Given the description of an element on the screen output the (x, y) to click on. 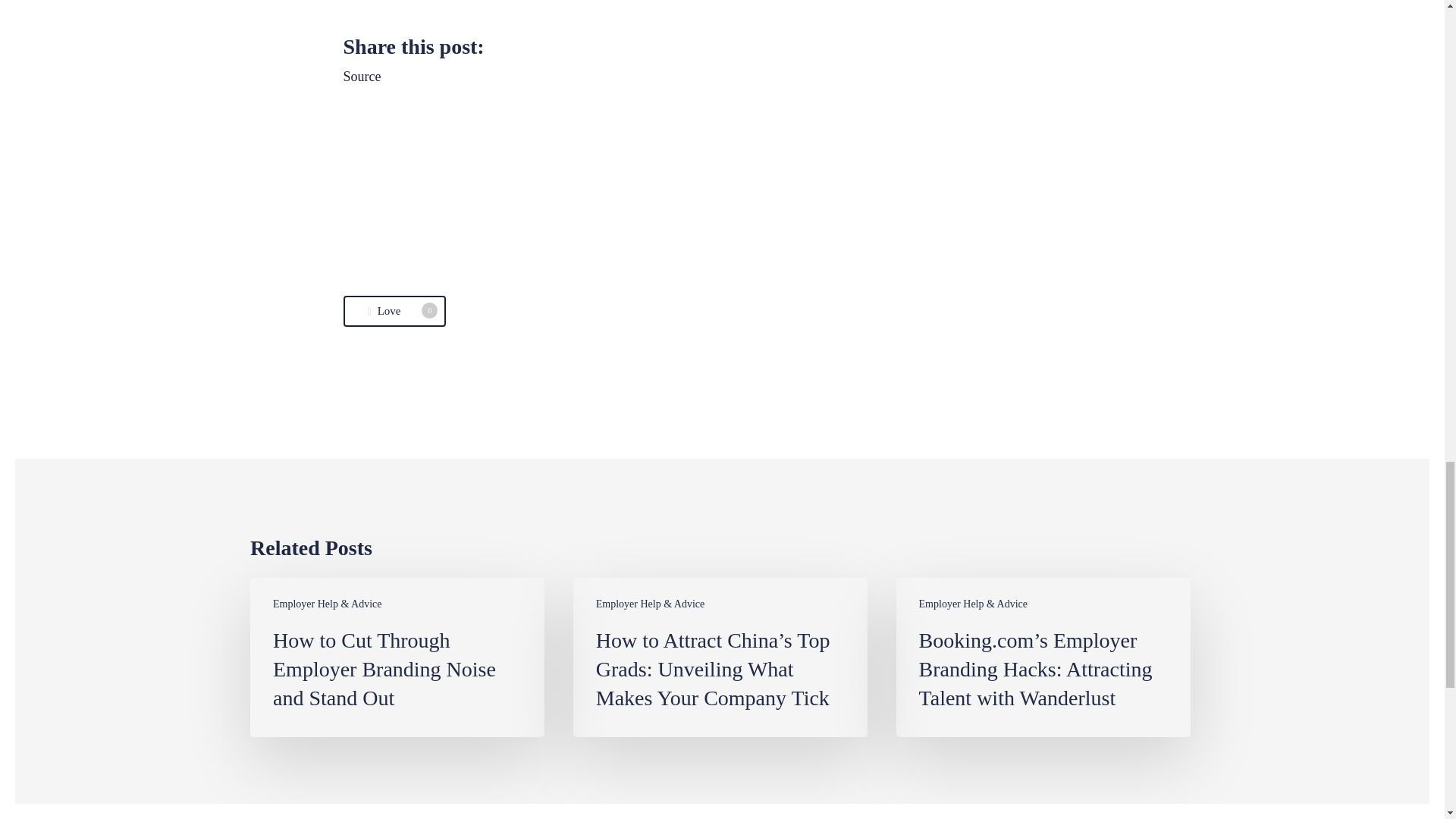
Love this (393, 310)
get in touch (509, 5)
How to Cut Through Employer Branding Noise and Stand Out (397, 657)
Source (393, 310)
